Given the description of an element on the screen output the (x, y) to click on. 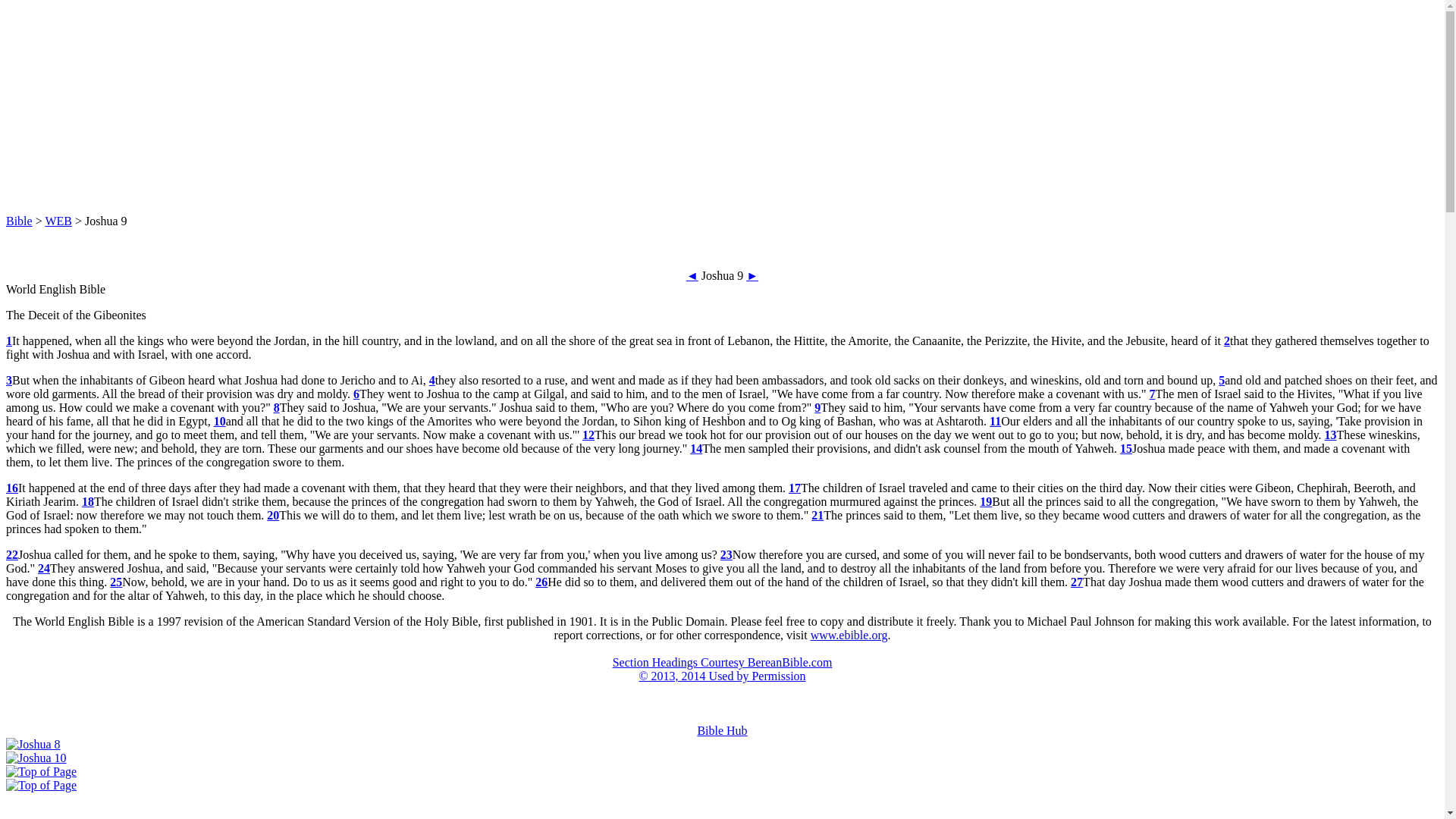
24 (43, 567)
26 (541, 581)
WEB (58, 220)
21 (817, 514)
19 (985, 501)
25 (116, 581)
13 (1330, 434)
12 (588, 434)
Bible (18, 220)
Top of Page (41, 771)
